Given the description of an element on the screen output the (x, y) to click on. 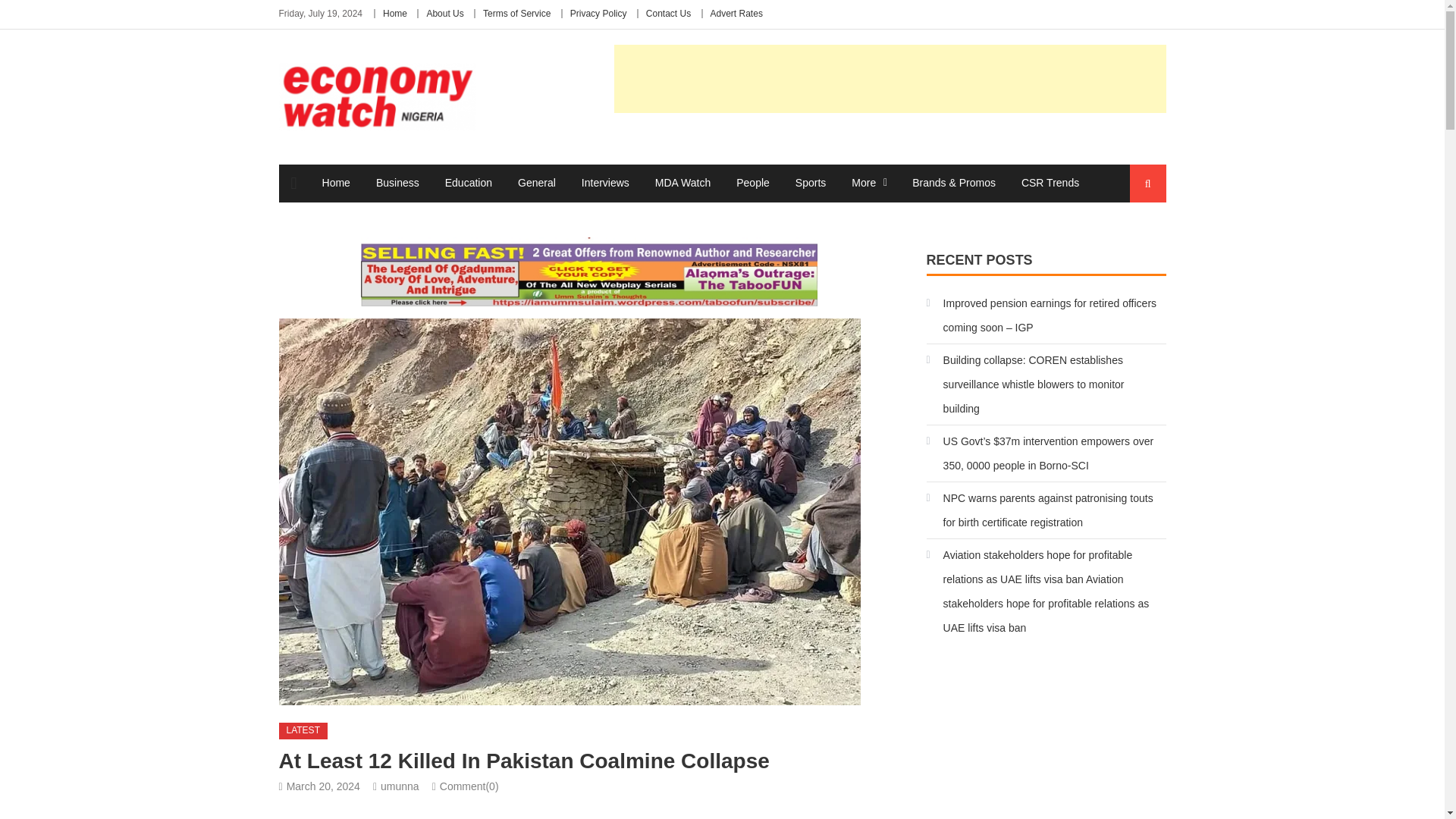
Terms of Service (516, 13)
Advertisement (890, 79)
Advert Rates (736, 13)
Business (397, 182)
People (752, 182)
Search (1133, 239)
General (536, 182)
LATEST (303, 730)
Home (336, 182)
More (863, 182)
MDA Watch (682, 182)
About Us (444, 13)
Sports (810, 182)
March 20, 2024 (322, 786)
Education (468, 182)
